Given the description of an element on the screen output the (x, y) to click on. 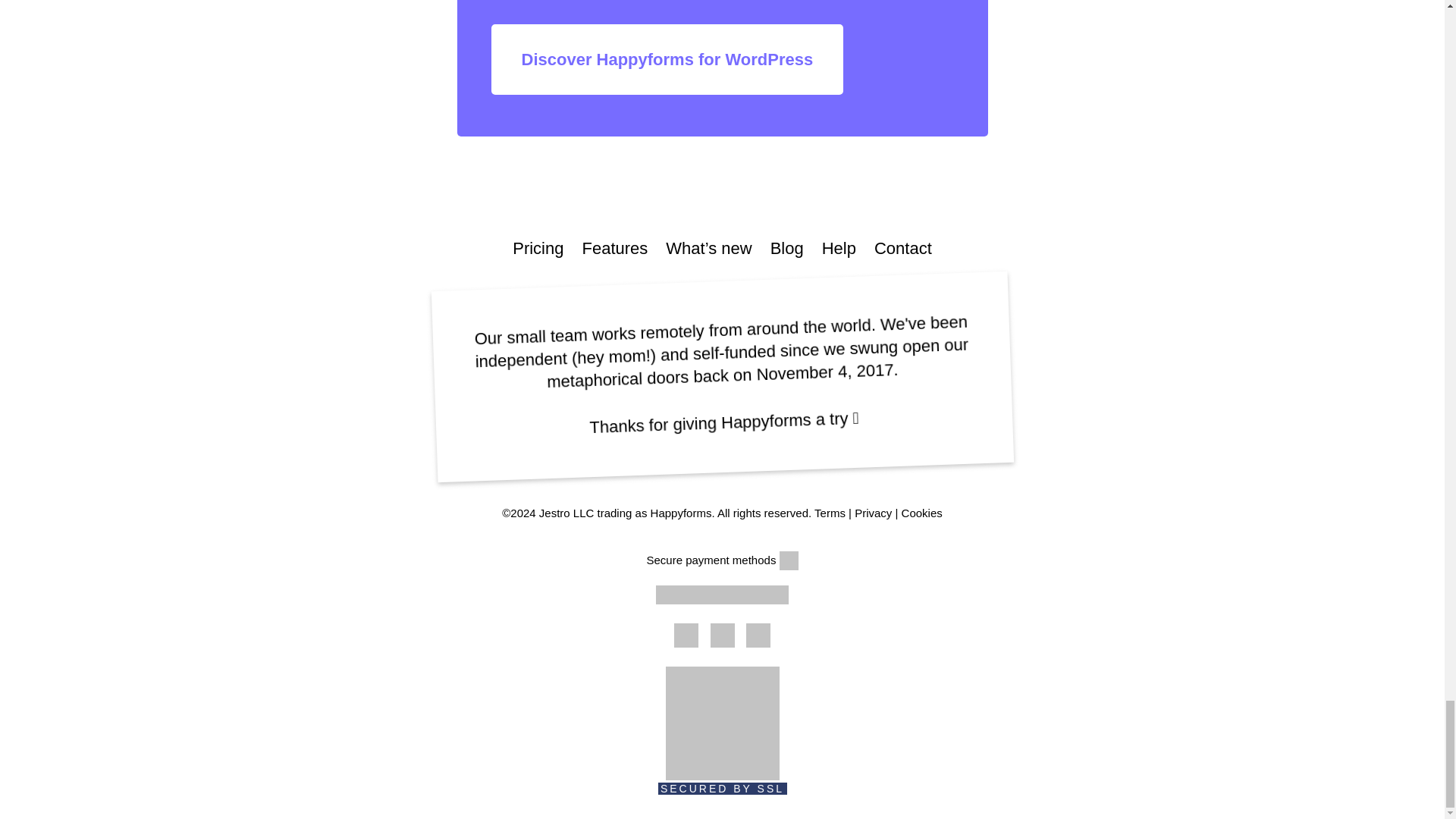
Discover Happyforms for WordPress (666, 59)
Terms (829, 512)
Blog (786, 248)
Cookies (921, 512)
Features (613, 248)
Privacy (872, 512)
Pricing (537, 248)
Contact (903, 248)
Help (839, 248)
